Given the description of an element on the screen output the (x, y) to click on. 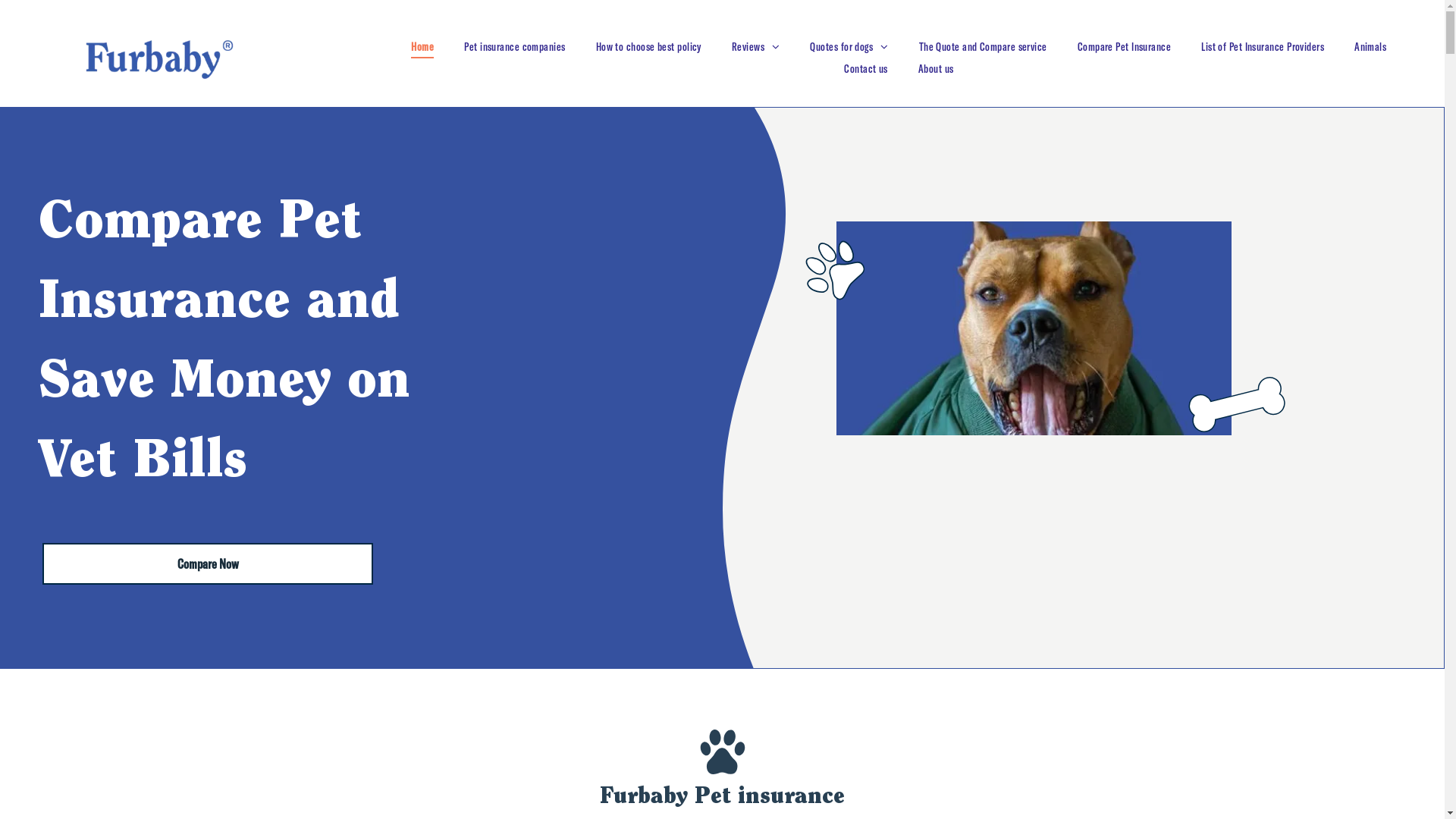
Animals Element type: text (1370, 47)
Home Element type: text (421, 47)
Compare Now Element type: text (207, 563)
Reviews Element type: text (755, 47)
Contact us Element type: text (865, 69)
Compare Pet Insurance Element type: text (1124, 47)
About us Element type: text (936, 69)
Quotes for dogs Element type: text (848, 47)
The Quote and Compare service Element type: text (982, 47)
How to choose best policy Element type: text (648, 47)
Pet insurance companies Element type: text (514, 47)
List of Pet Insurance Providers Element type: text (1262, 47)
